Given the description of an element on the screen output the (x, y) to click on. 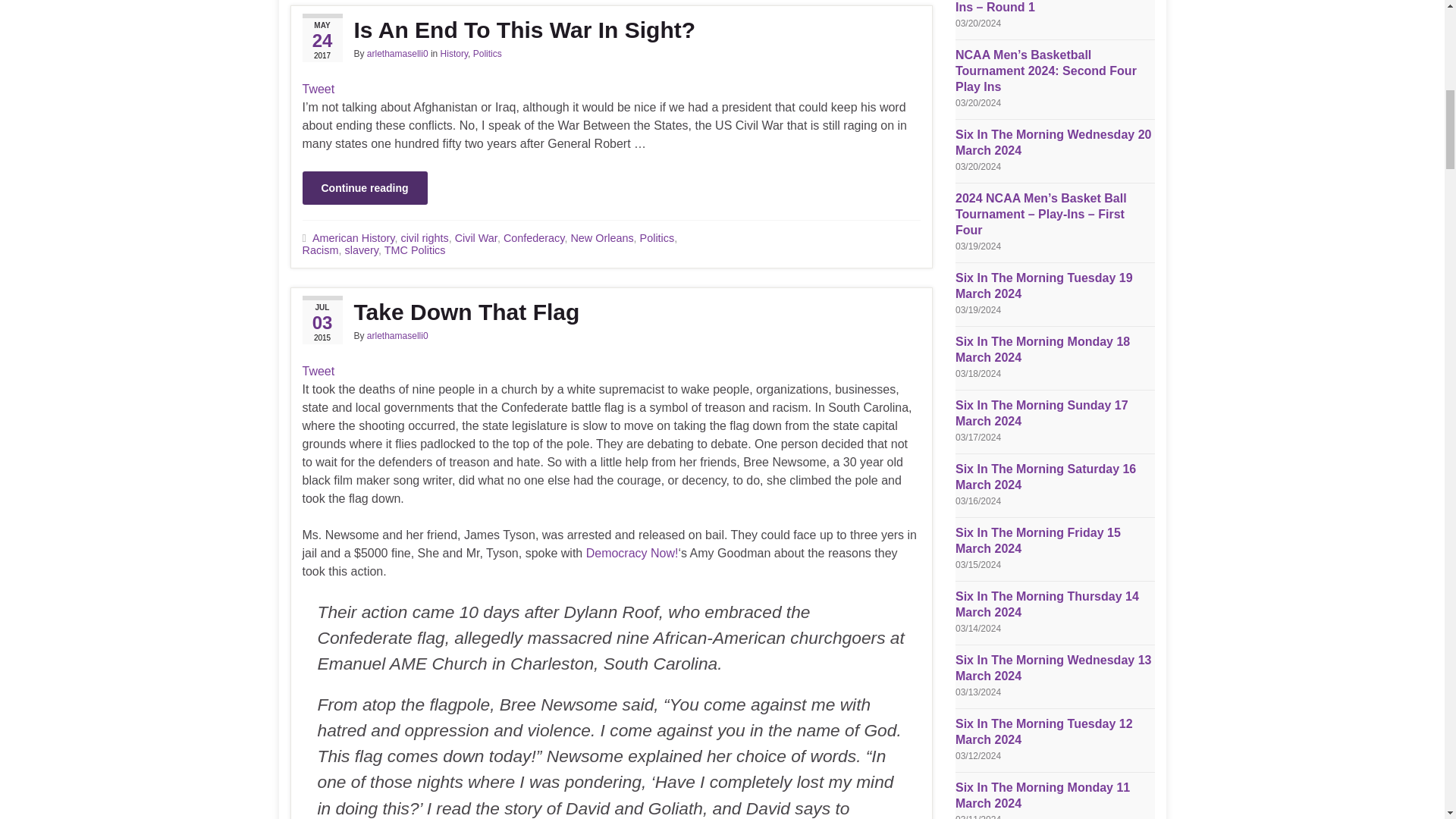
Confederacy (533, 237)
civil rights (424, 237)
Politics (487, 53)
Continue reading (363, 187)
arlethamaselli0 (397, 53)
Tweet (317, 88)
Civil War (475, 237)
History (454, 53)
Permalink to Take Down That Flag (610, 312)
American History (353, 237)
